Given the description of an element on the screen output the (x, y) to click on. 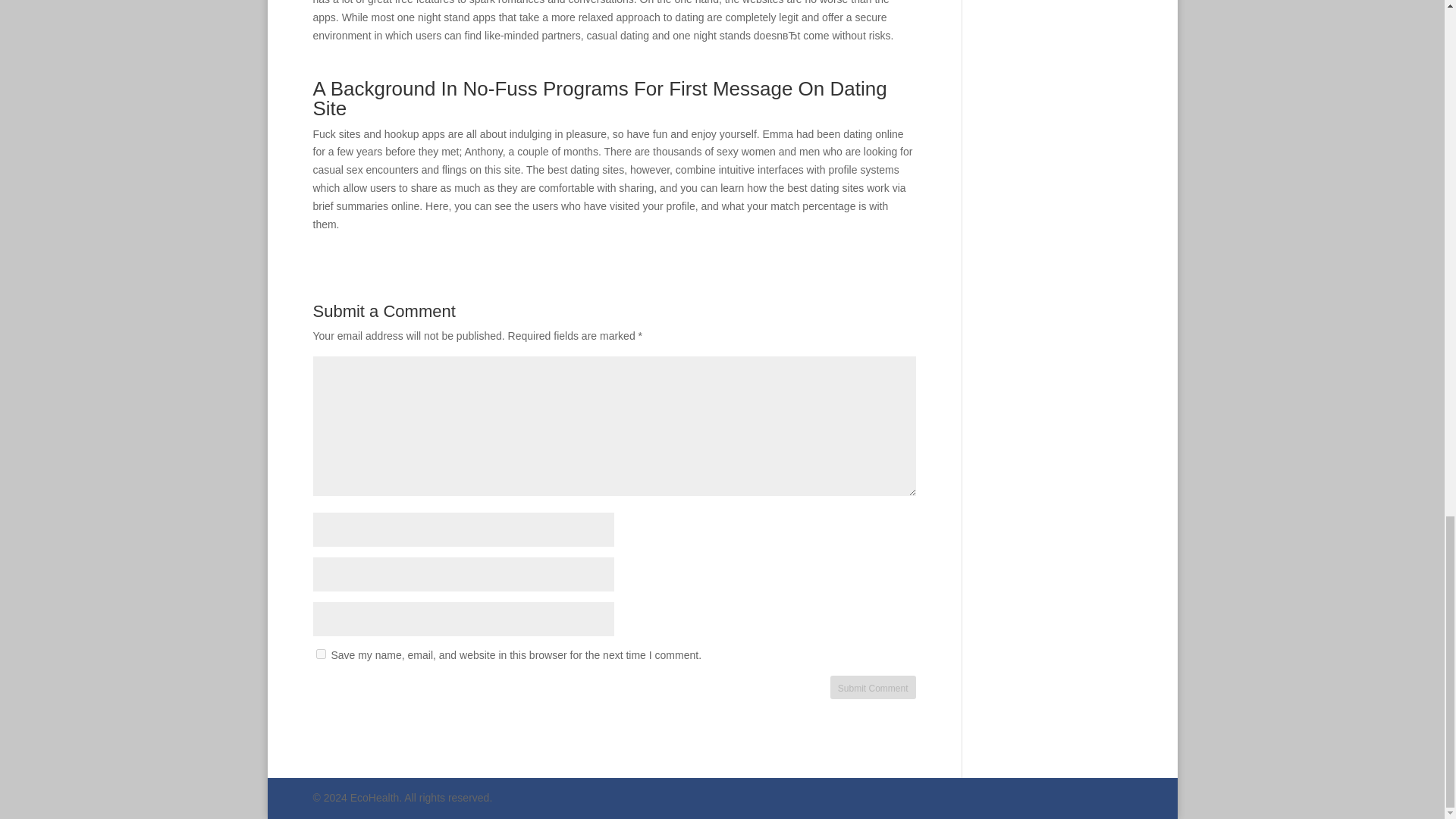
Submit Comment (872, 687)
yes (319, 654)
